Given the description of an element on the screen output the (x, y) to click on. 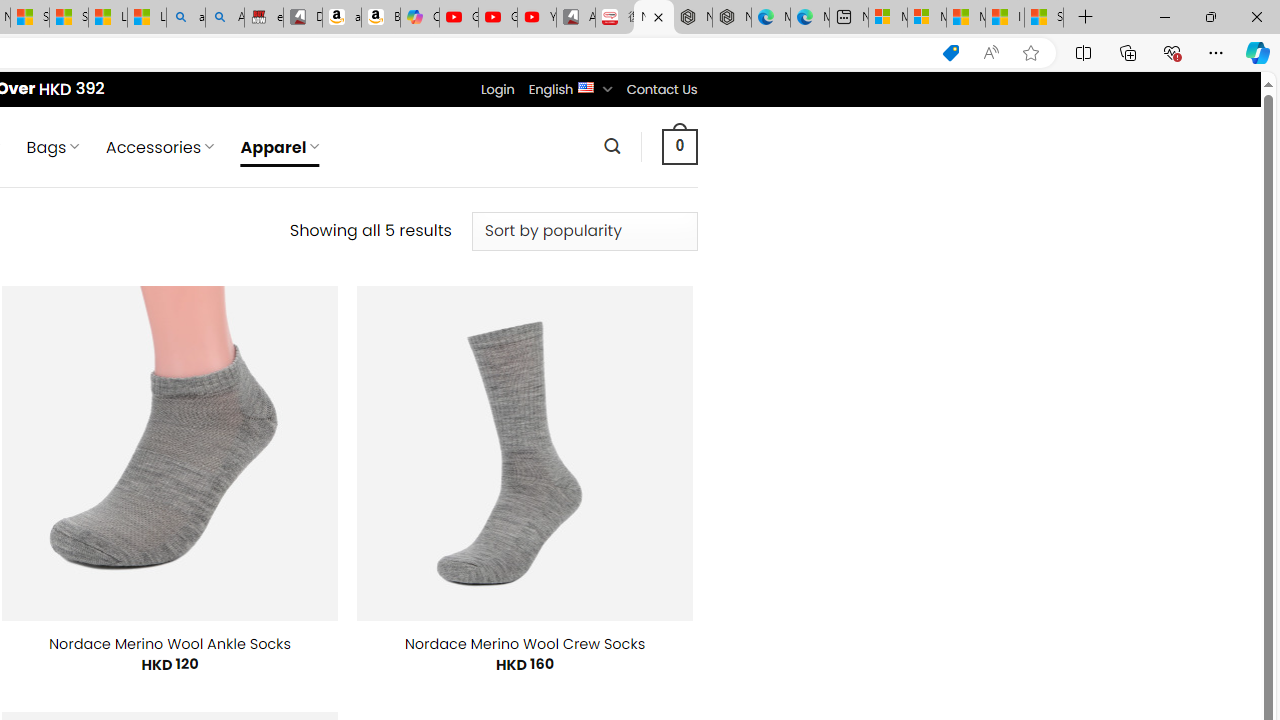
amazon.in/dp/B0CX59H5W7/?tag=gsmcom05-21 (341, 17)
This site has coupons! Shopping in Microsoft Edge (950, 53)
Nordace Merino Wool Crew Socks (525, 643)
